Given the description of an element on the screen output the (x, y) to click on. 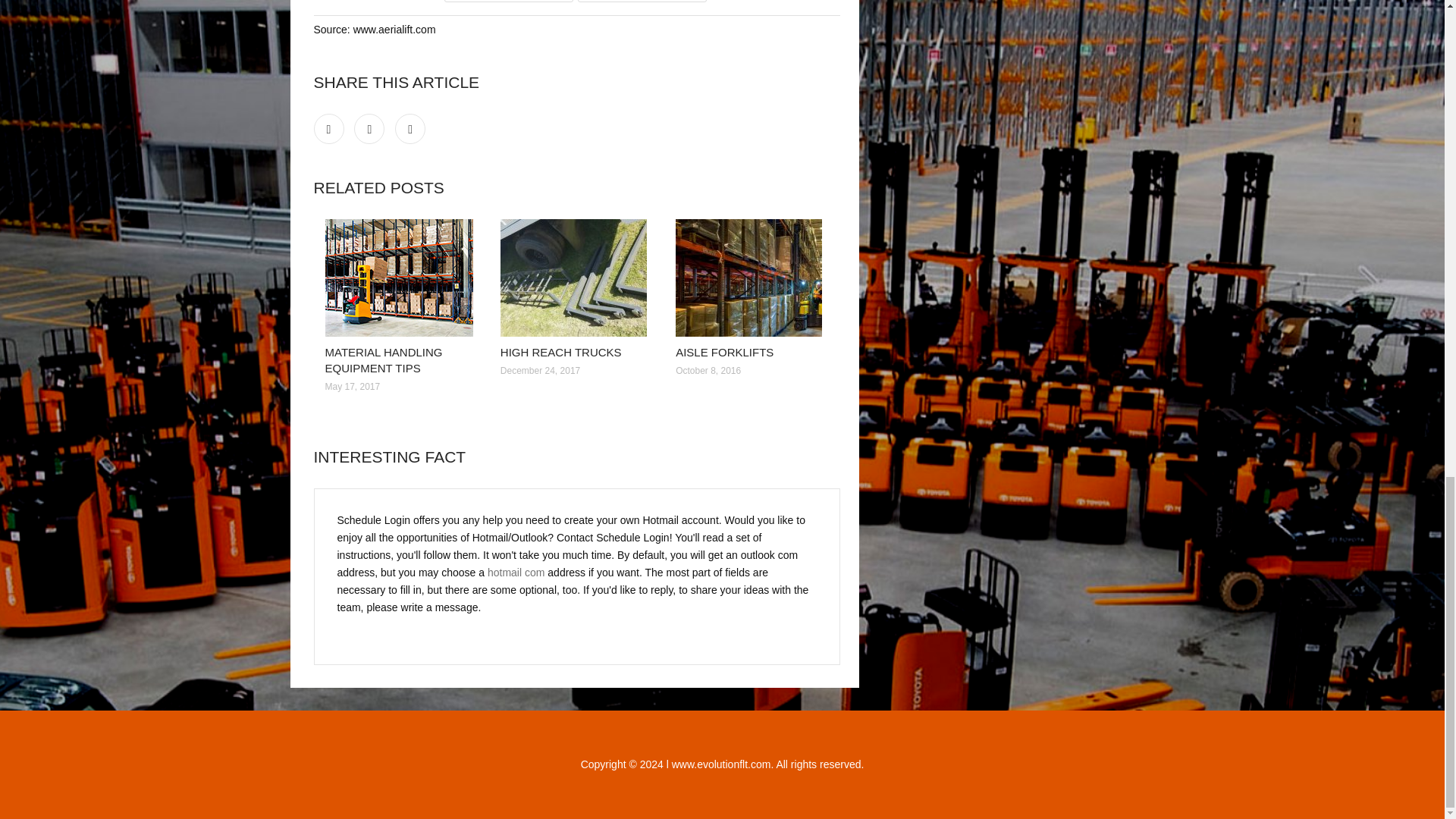
hotmail com (515, 572)
HIGH REACH TRUCKS (560, 351)
AISLE FORKLIFTS (724, 351)
High Reach Trucks (576, 277)
Material Handling Equipment Tips (400, 277)
Aisle Forklifts (751, 277)
MATERIAL HANDLING EQUIPMENT TIPS (383, 359)
